Given the description of an element on the screen output the (x, y) to click on. 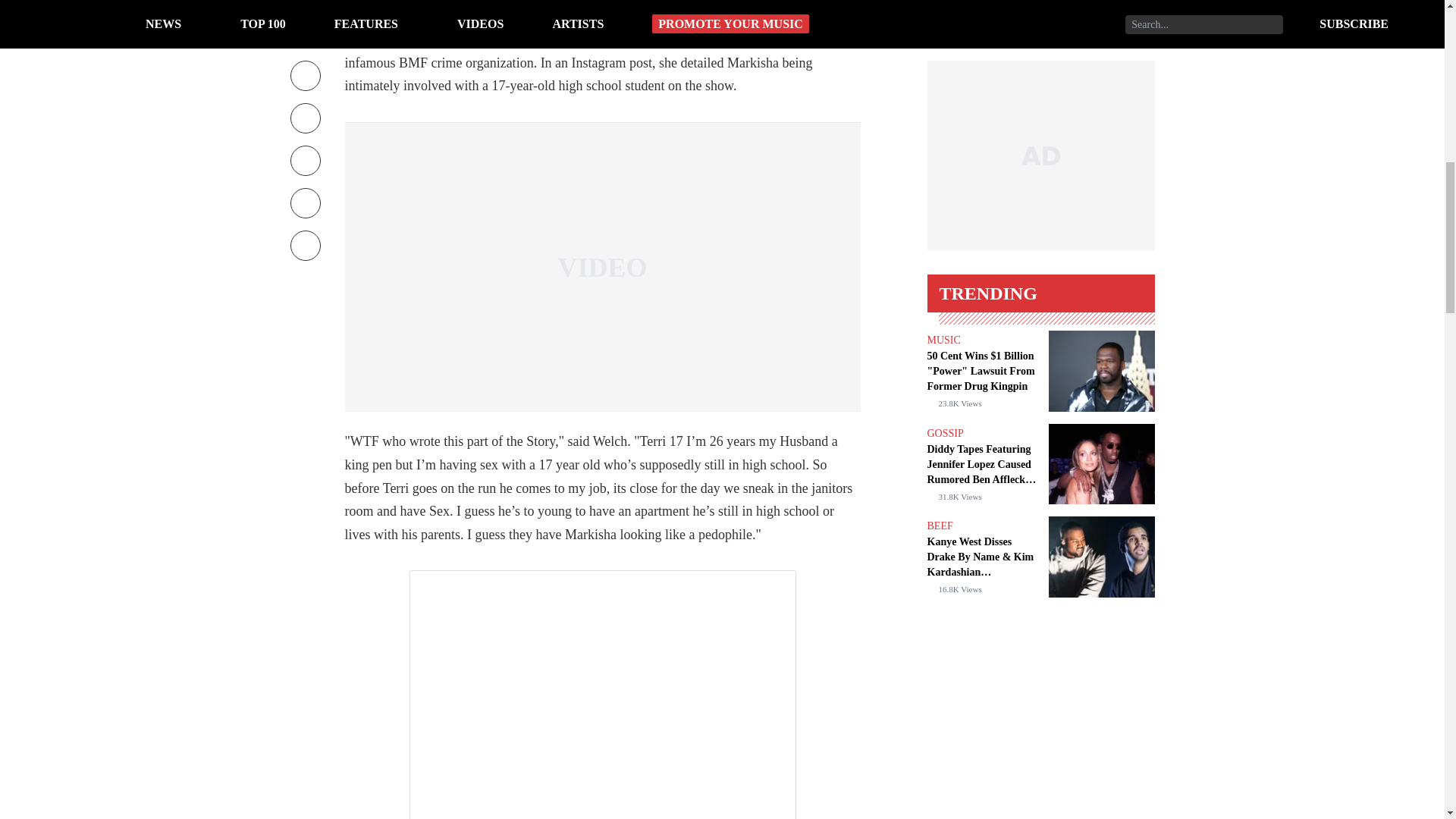
First Lady of BMF (663, 16)
